Given the description of an element on the screen output the (x, y) to click on. 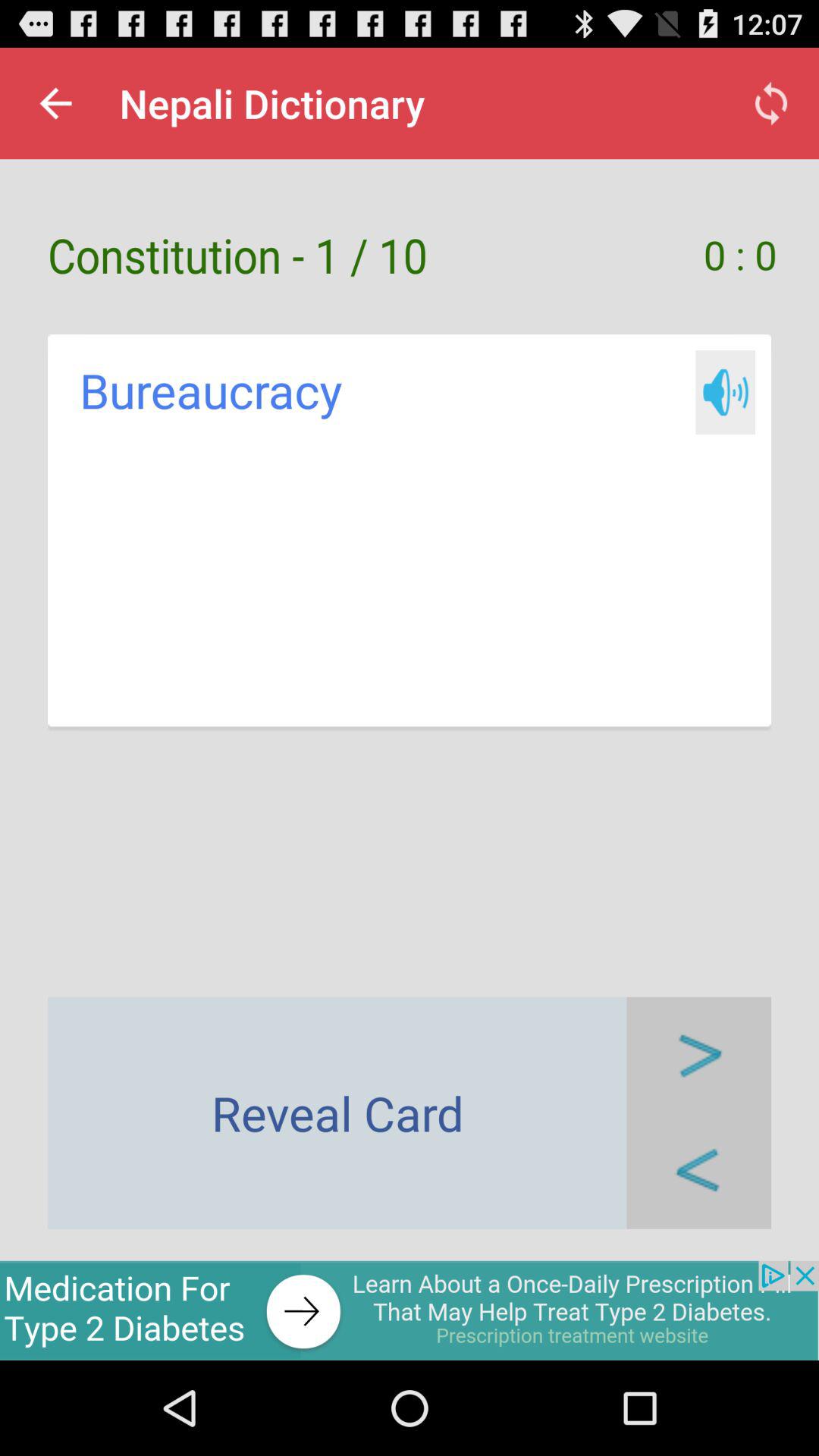
go back (698, 1171)
